Given the description of an element on the screen output the (x, y) to click on. 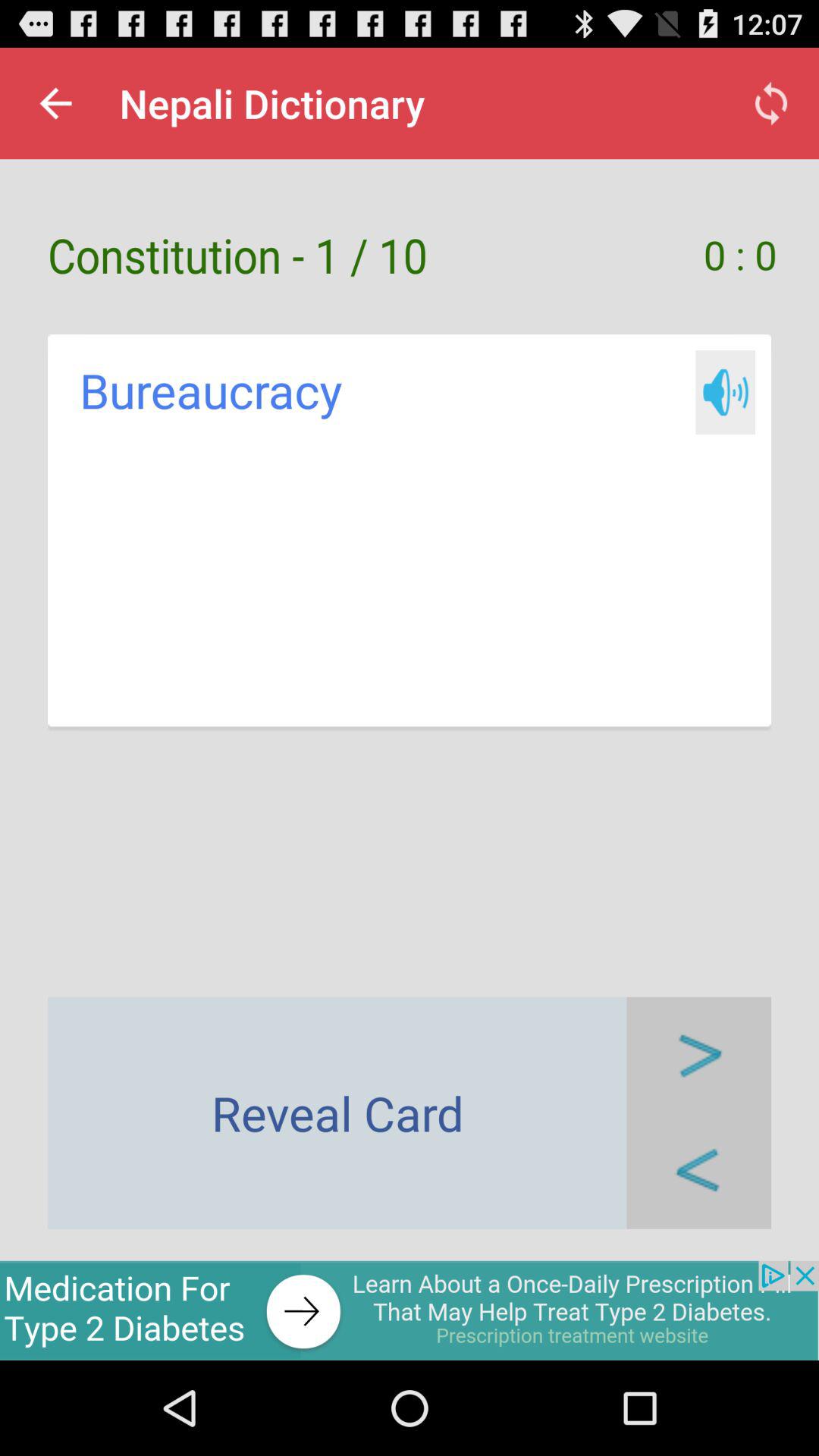
go back (698, 1171)
